Given the description of an element on the screen output the (x, y) to click on. 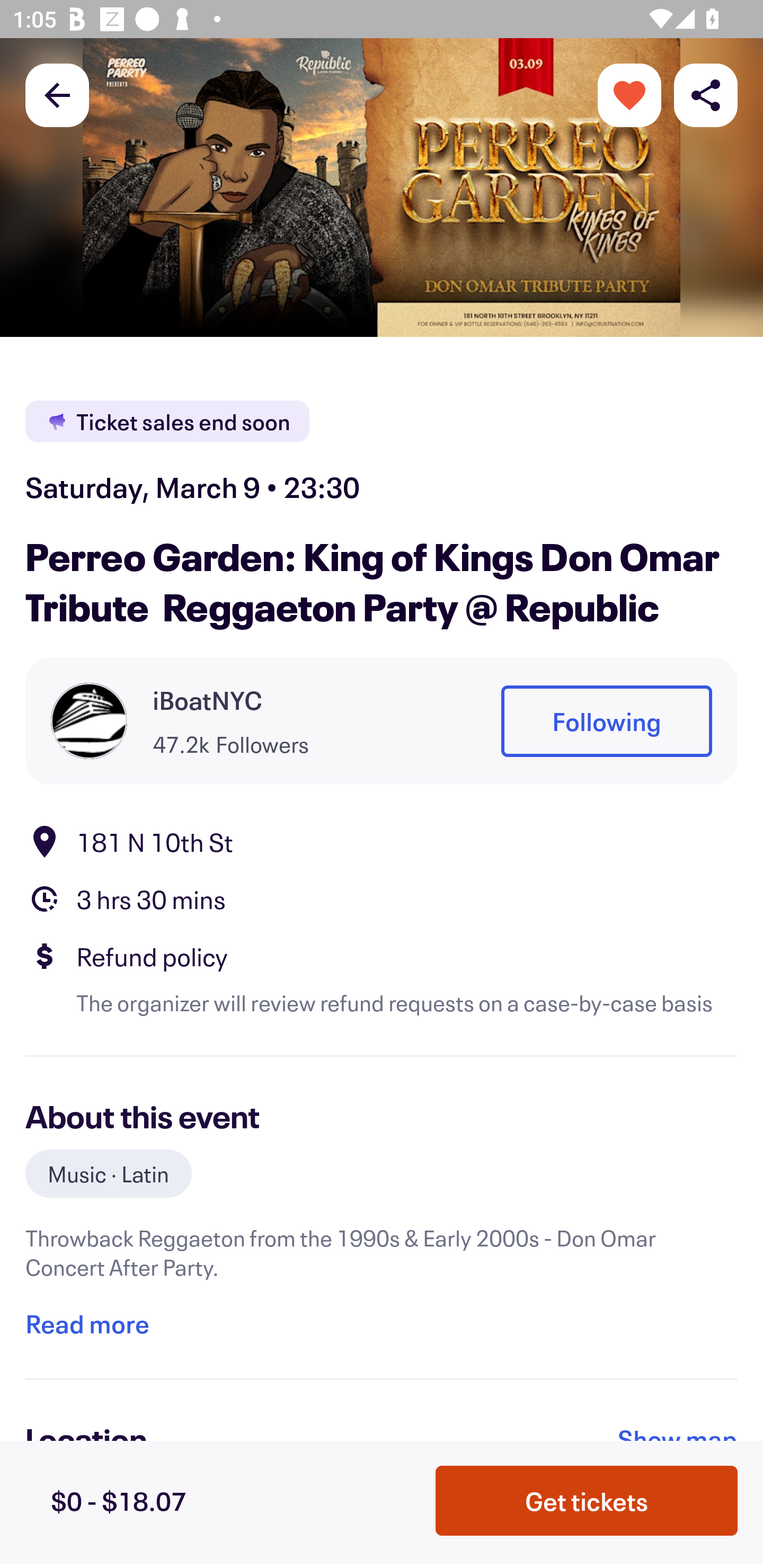
Back (57, 94)
More (629, 94)
Share (705, 94)
iBoatNYC (207, 699)
Organizer profile picture (89, 720)
Following (606, 720)
Location 181 N 10th St (381, 840)
Read more (87, 1323)
